Given the description of an element on the screen output the (x, y) to click on. 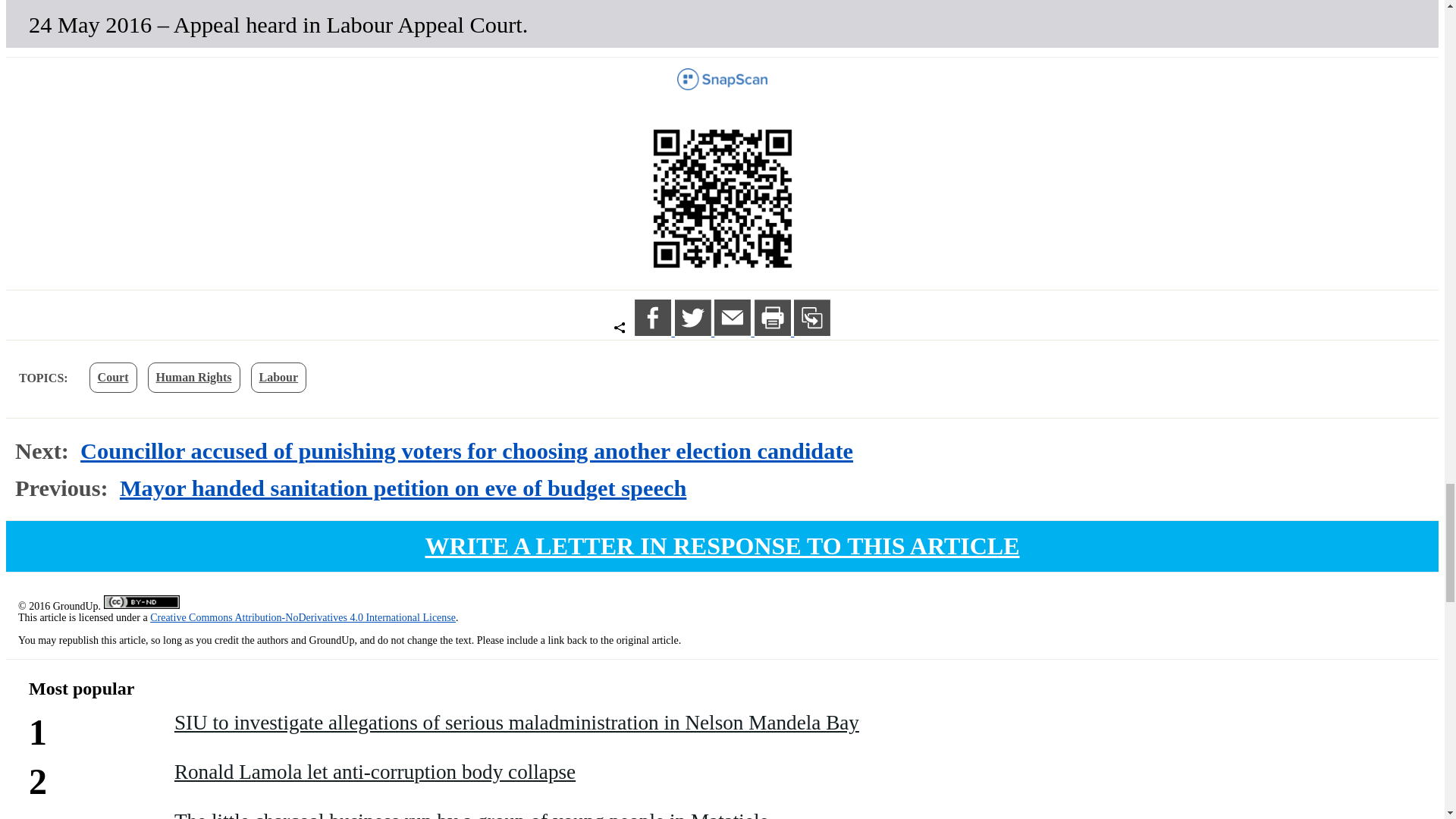
Share on Twitter (694, 331)
WRITE A LETTER IN RESPONSE TO THIS ARTICLE (722, 545)
Mayor handed sanitation petition on eve of budget speech (402, 488)
Share on Facebook (654, 331)
Human Rights (193, 377)
Print (774, 331)
Email (734, 331)
Labour (278, 377)
Republish this article (811, 331)
Court (112, 377)
